Given the description of an element on the screen output the (x, y) to click on. 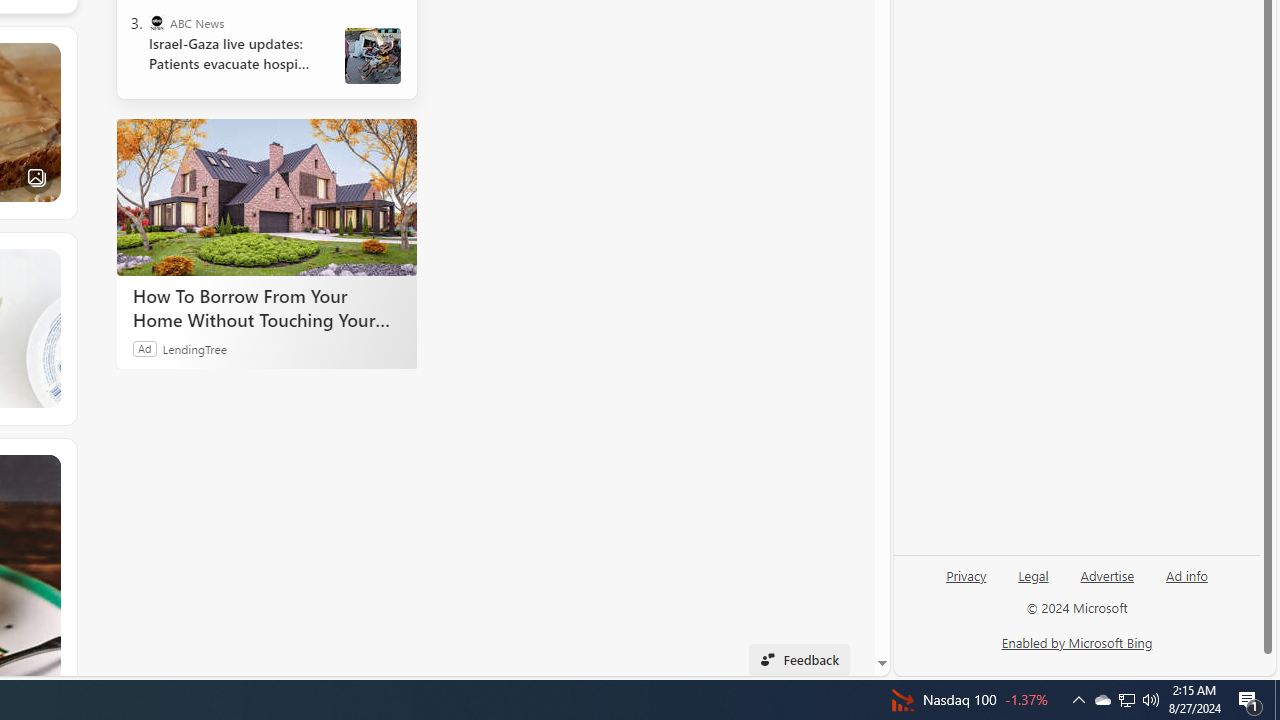
Legal (1033, 574)
Feedback (798, 659)
Ad (145, 348)
Privacy (966, 583)
